Given the description of an element on the screen output the (x, y) to click on. 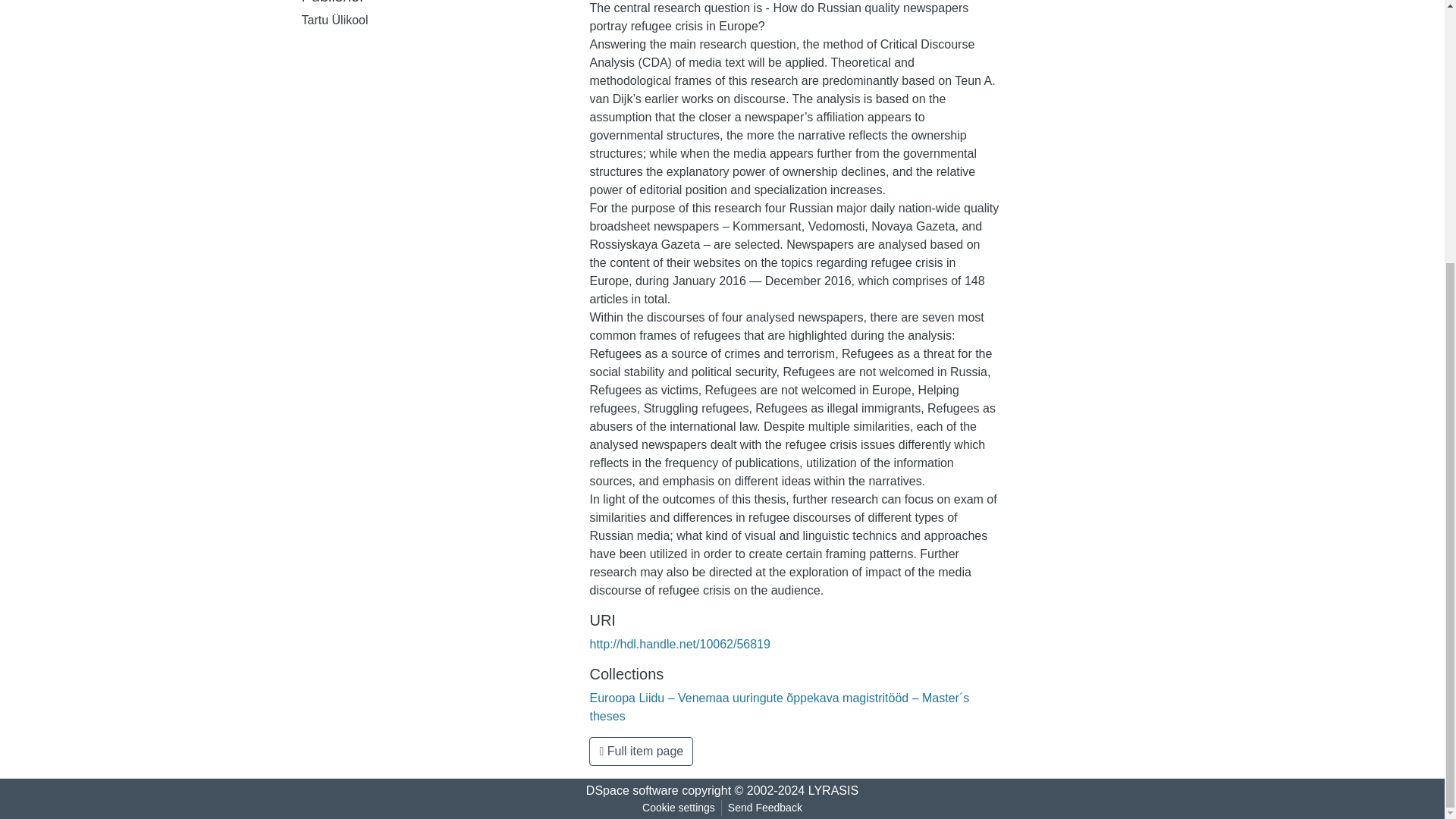
Send Feedback (765, 807)
DSpace software (632, 789)
Cookie settings (678, 807)
Full item page (641, 751)
LYRASIS (833, 789)
